Given the description of an element on the screen output the (x, y) to click on. 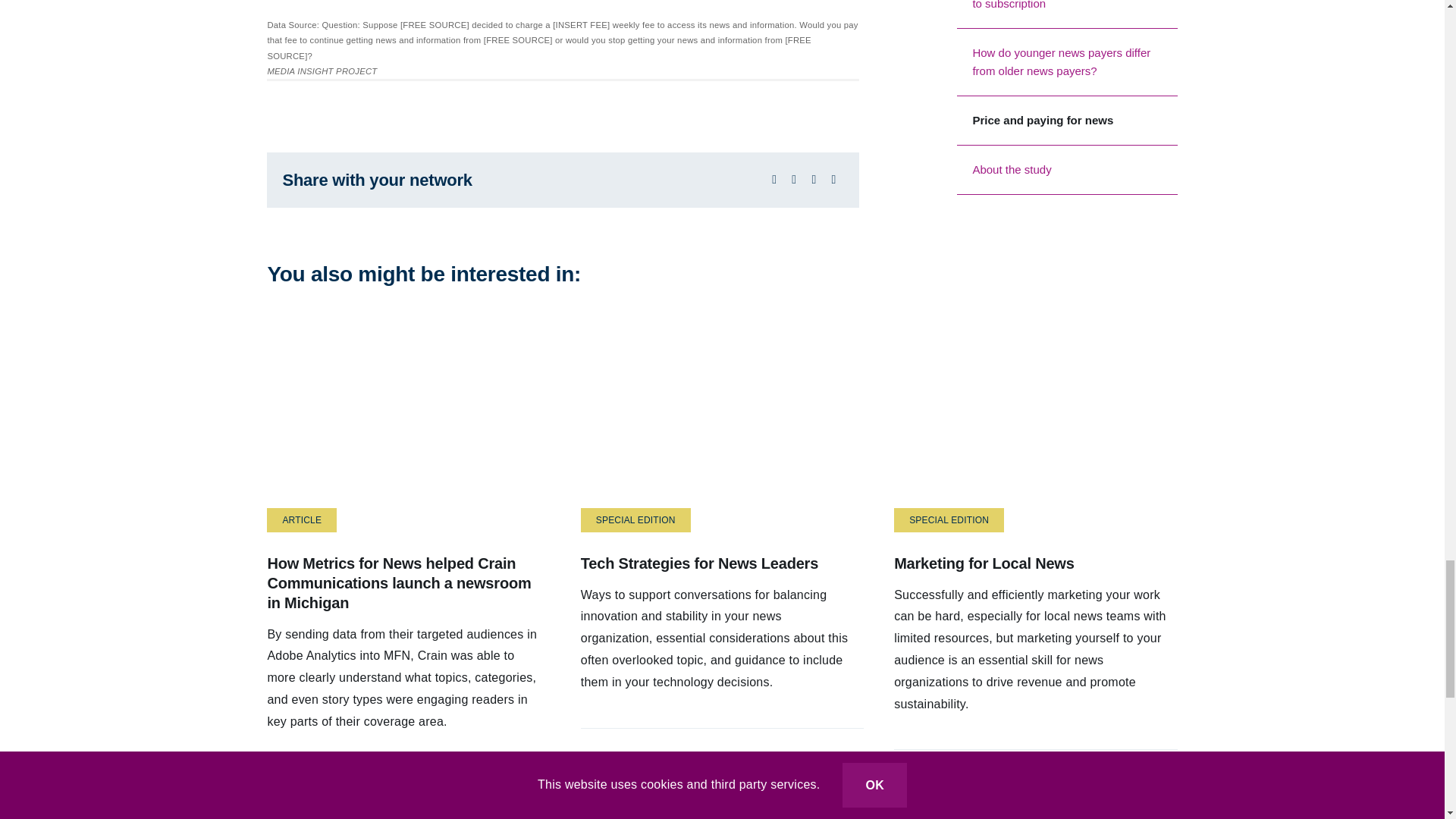
X (793, 179)
LinkedIn (813, 179)
Email (833, 179)
Facebook (774, 179)
